Given the description of an element on the screen output the (x, y) to click on. 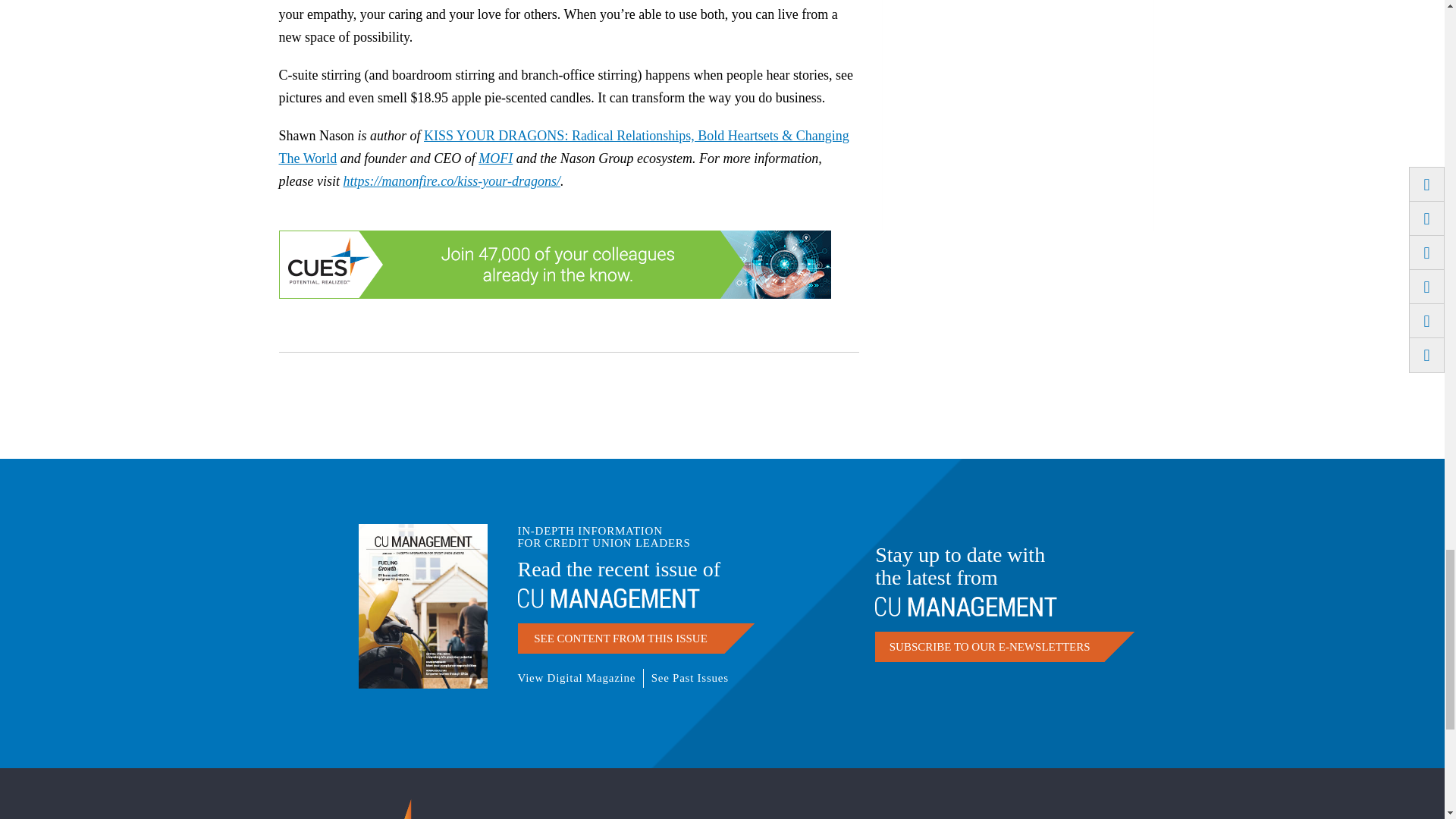
3rd party ad content (1017, 122)
